Given the description of an element on the screen output the (x, y) to click on. 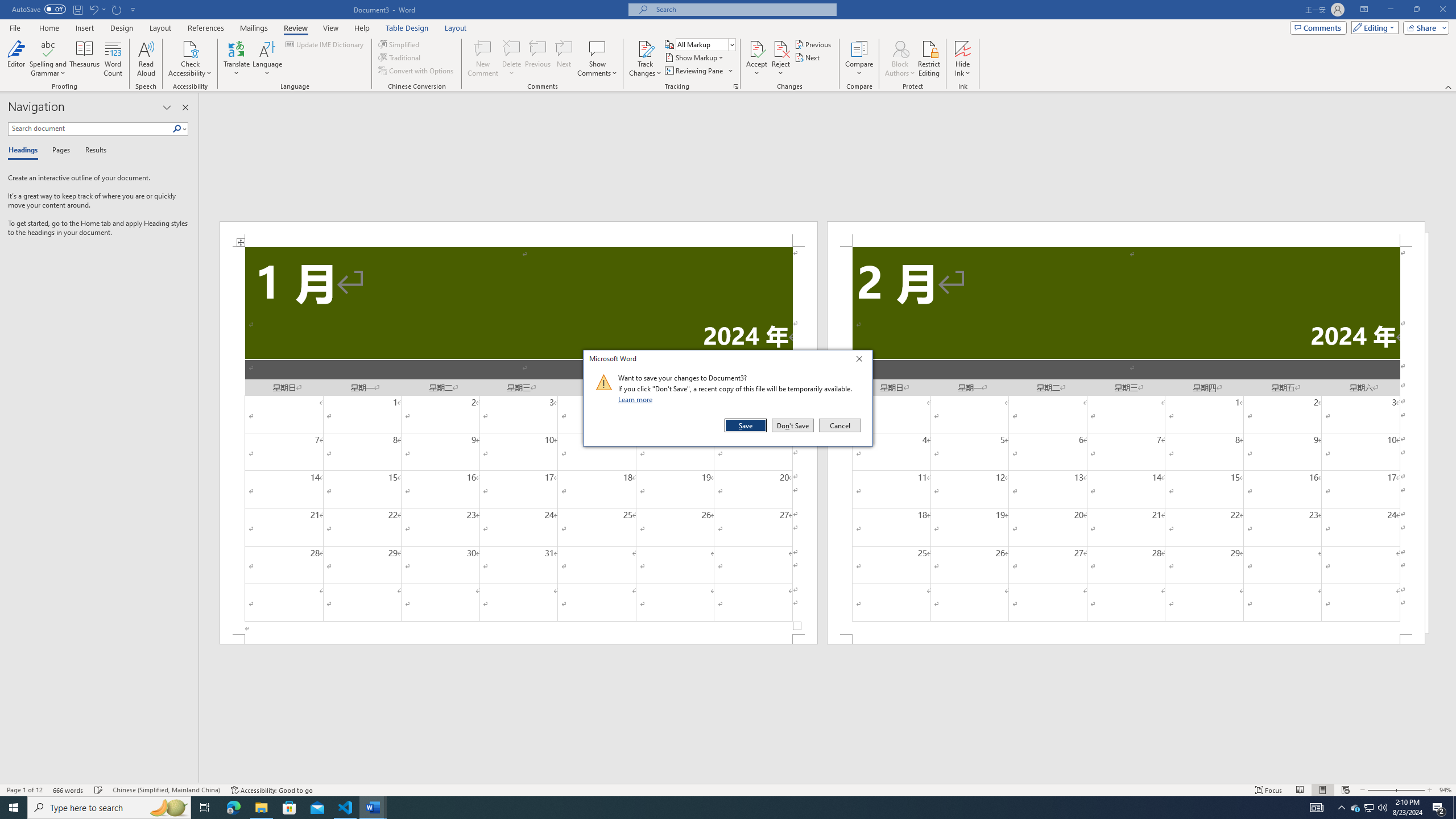
Convert with Options... (417, 69)
Microsoft Store (289, 807)
Task View (204, 807)
Language Chinese (Simplified, Mainland China) (165, 790)
User Promoted Notification Area (1368, 807)
Table Design (407, 28)
Class: MsoCommandBar (728, 789)
Undo Increase Indent (92, 9)
Repeat Doc Close (117, 9)
Accept (756, 58)
Change Tracking Options... (735, 85)
Show desktop (1454, 807)
